Given the description of an element on the screen output the (x, y) to click on. 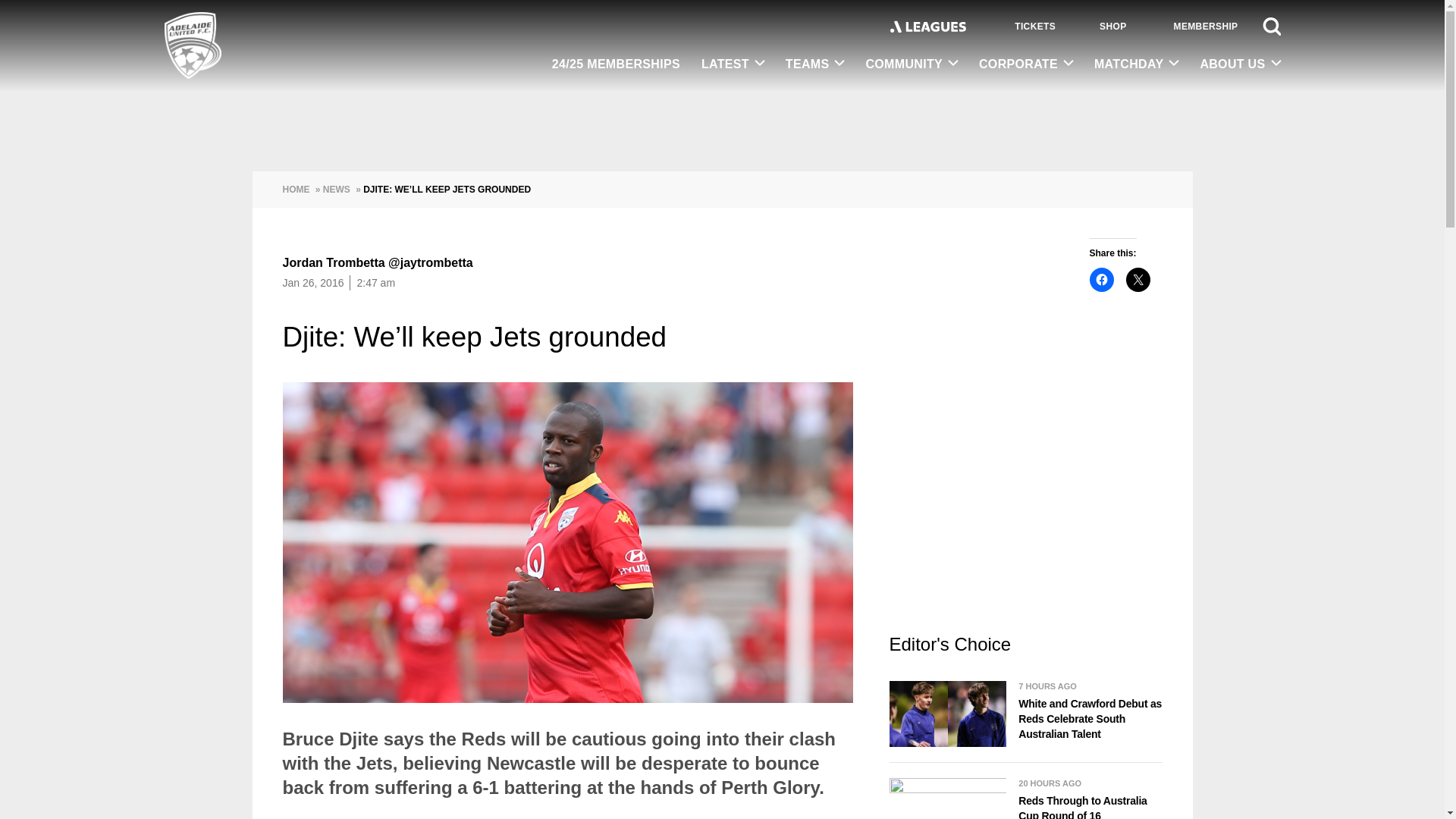
LATEST (732, 64)
CORPORATE (1025, 64)
Click to share on Facebook (1101, 279)
COMMUNITY (911, 64)
Click to share on X (1137, 279)
TEAMS (815, 64)
